Given the description of an element on the screen output the (x, y) to click on. 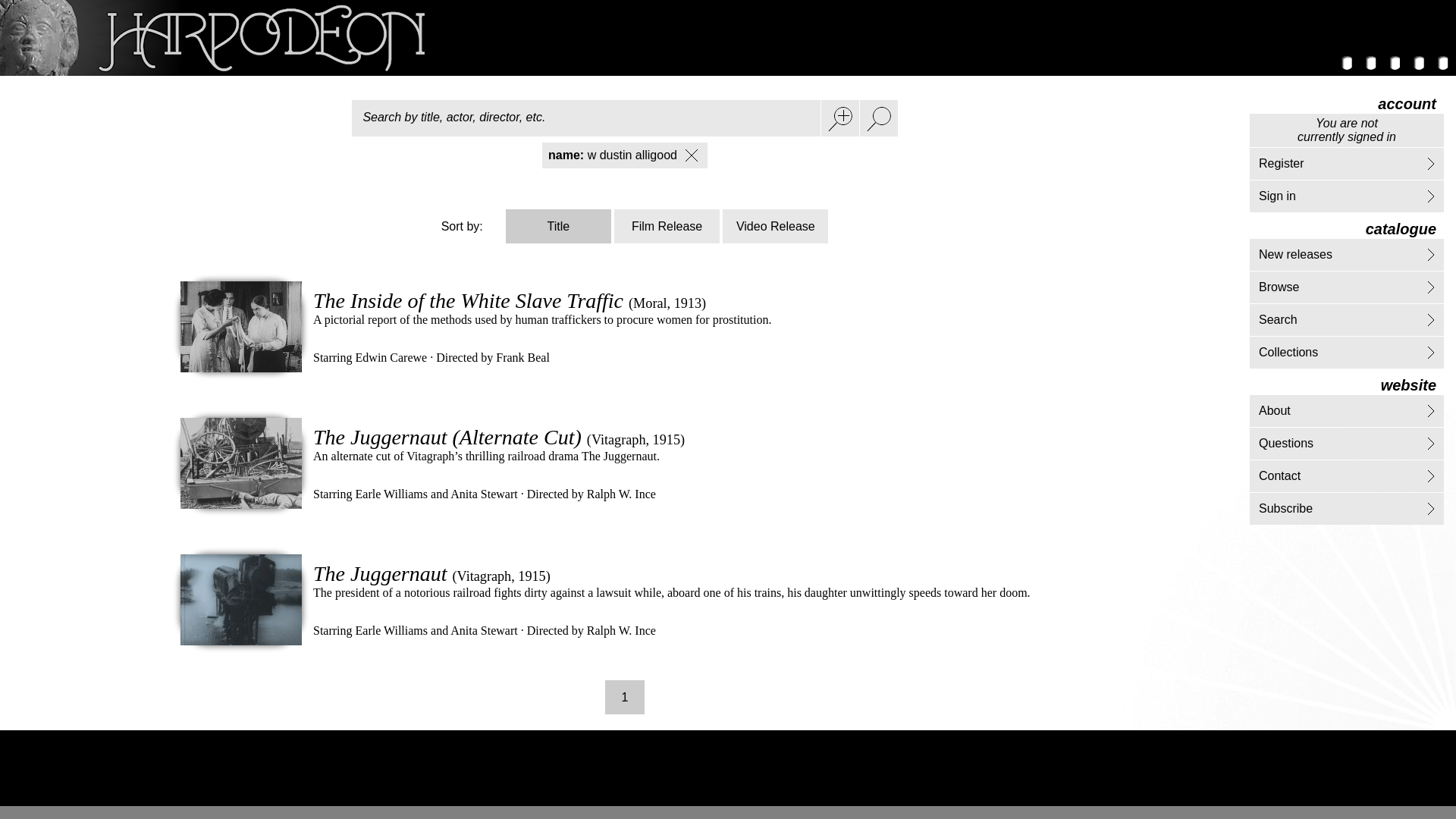
Subscribe (1286, 508)
Register (1281, 163)
Search within results (840, 118)
Search (1278, 318)
Questions (1286, 442)
Search by title, actor, director, etc. (586, 117)
About (1274, 410)
Contact (1279, 475)
New releases (1295, 254)
Collections (1288, 351)
New search (878, 118)
Browse (1278, 286)
Sign in (1277, 195)
